Given the description of an element on the screen output the (x, y) to click on. 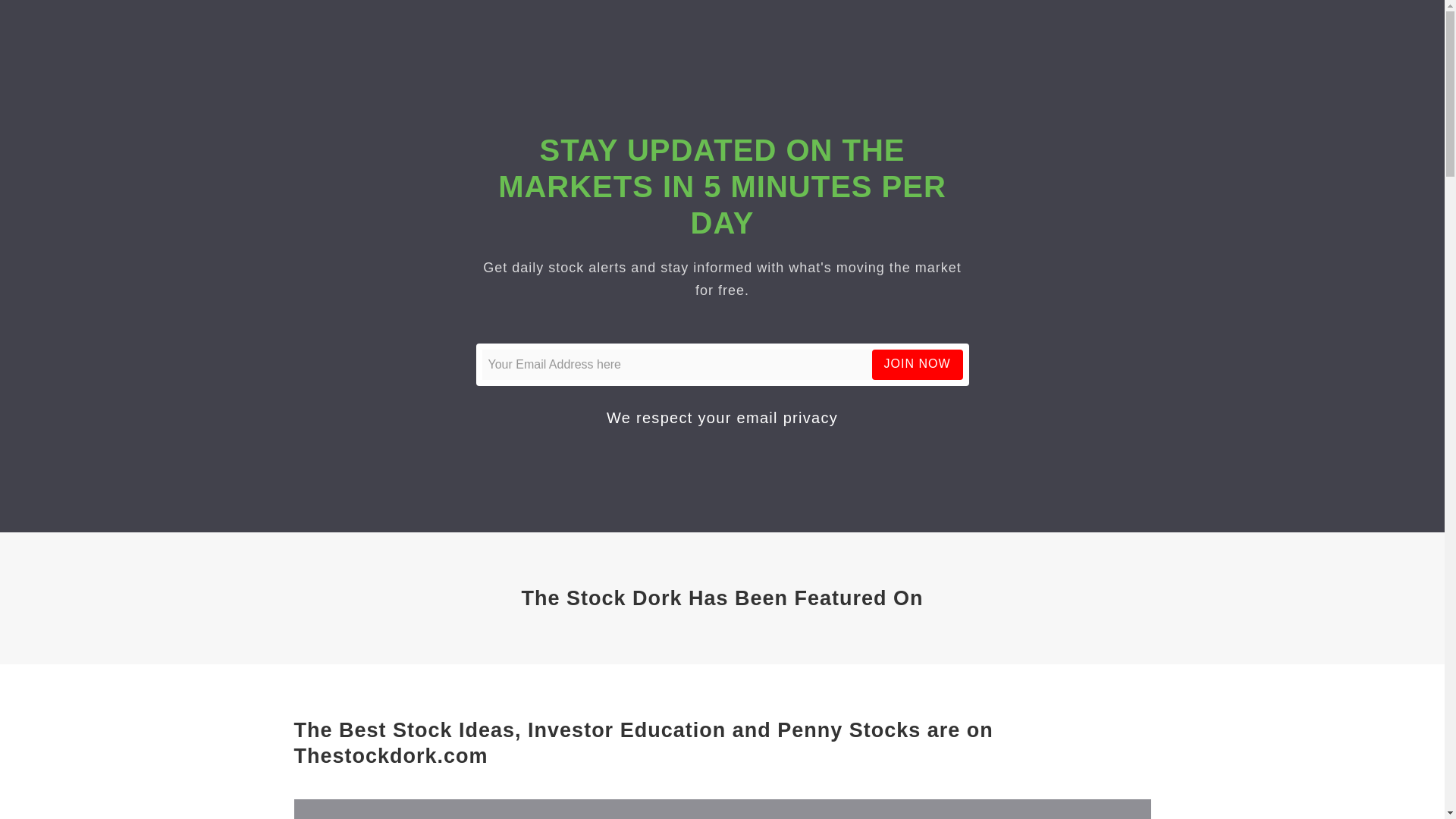
Privacy Policy (787, 417)
Join Now (917, 363)
email privacy (787, 417)
Join Now (917, 363)
